Given the description of an element on the screen output the (x, y) to click on. 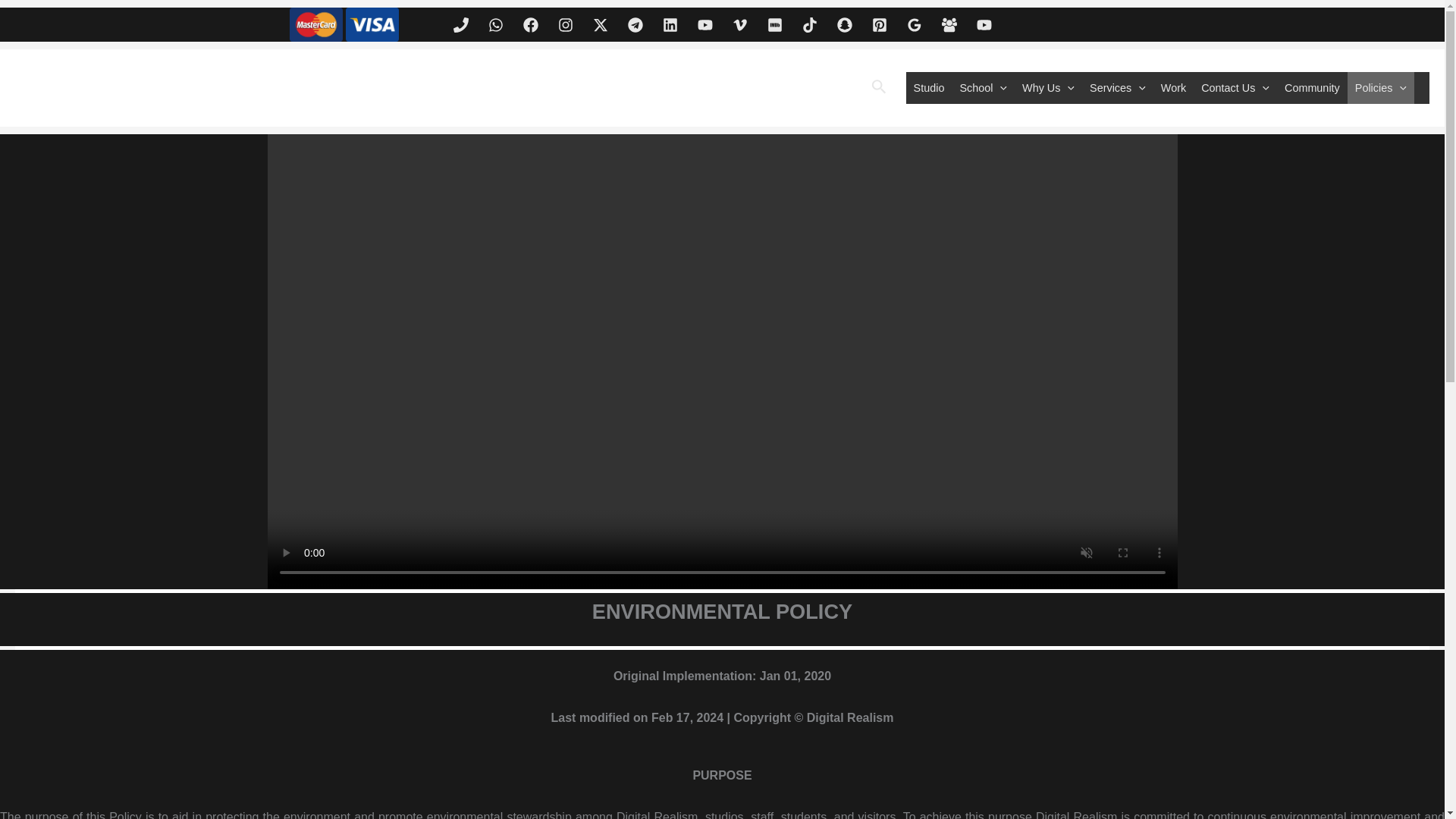
Studio (928, 88)
School (983, 88)
